Given the description of an element on the screen output the (x, y) to click on. 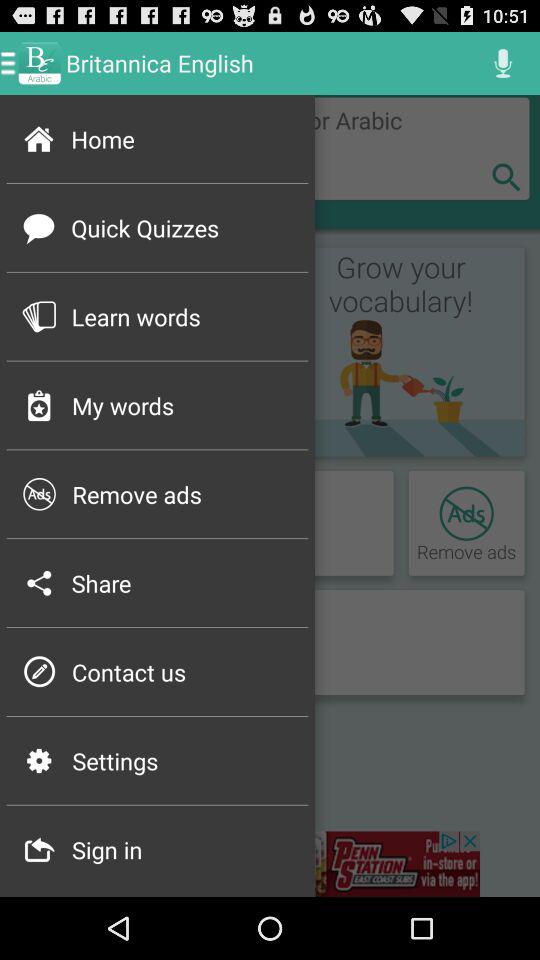
scroll until the learn words app (183, 316)
